Given the description of an element on the screen output the (x, y) to click on. 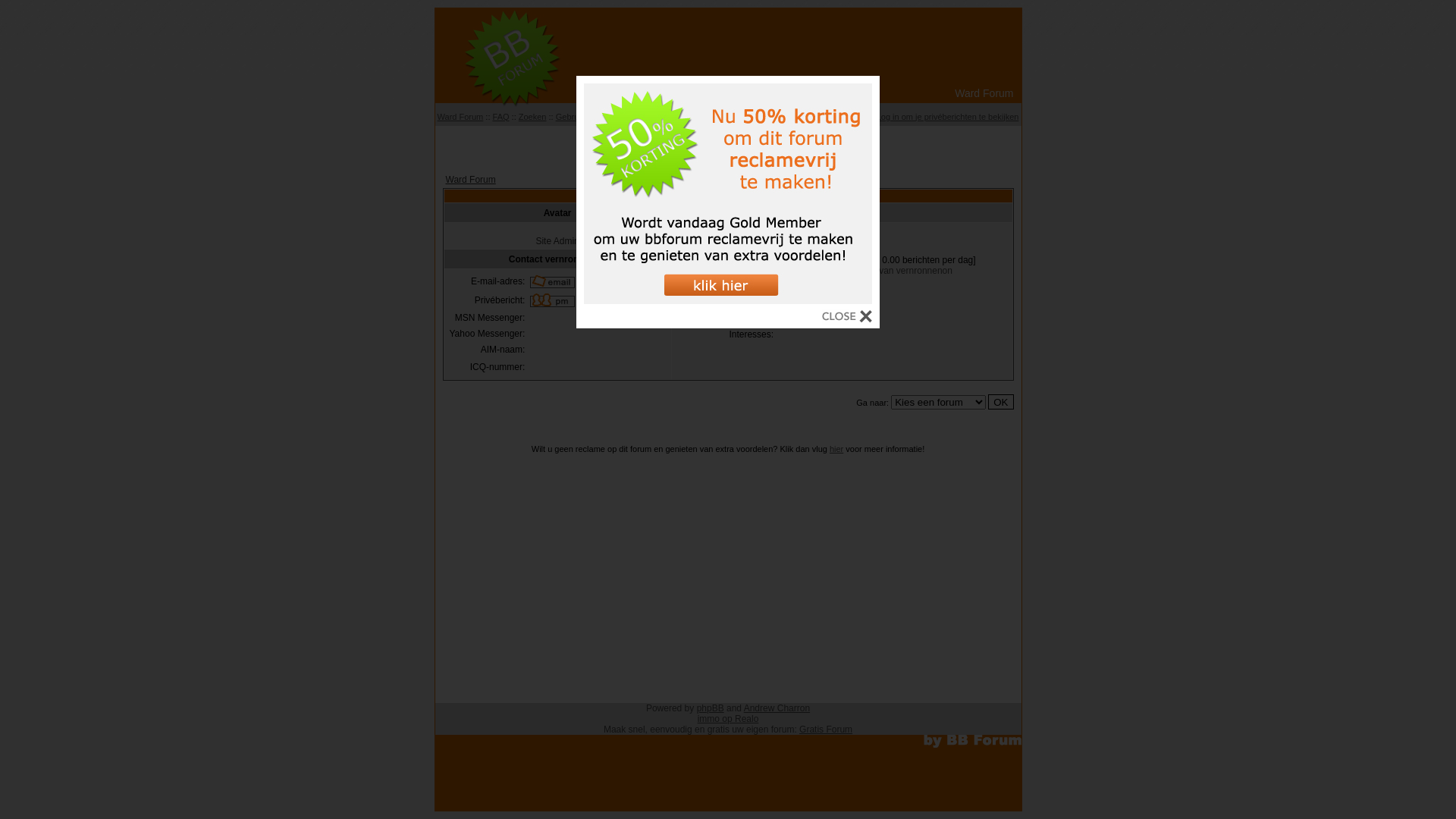
Ward Forum Element type: text (460, 116)
sluiten Element type: hover (847, 318)
Zoek naar alle berichten van vernronnenon Element type: text (865, 270)
Gebruikersgroepen Element type: text (653, 116)
klik voor meer informatie Element type: hover (727, 299)
Andrew Charron Element type: text (776, 707)
E-mail versturen Element type: hover (552, 281)
immo op Realo Element type: text (728, 718)
hier Element type: text (836, 448)
FAQ Element type: text (500, 116)
Ward Forum Element type: text (470, 179)
phpBB Element type: text (710, 707)
Zoeken Element type: text (532, 116)
Viraal Nieuws Element type: text (727, 144)
Gebruikerslijst Element type: text (581, 116)
Profiel Element type: text (854, 116)
OK Element type: text (1000, 401)
Gratis Forum Element type: text (825, 729)
Registreren Element type: text (771, 116)
Inloggen Element type: text (818, 116)
